Given the description of an element on the screen output the (x, y) to click on. 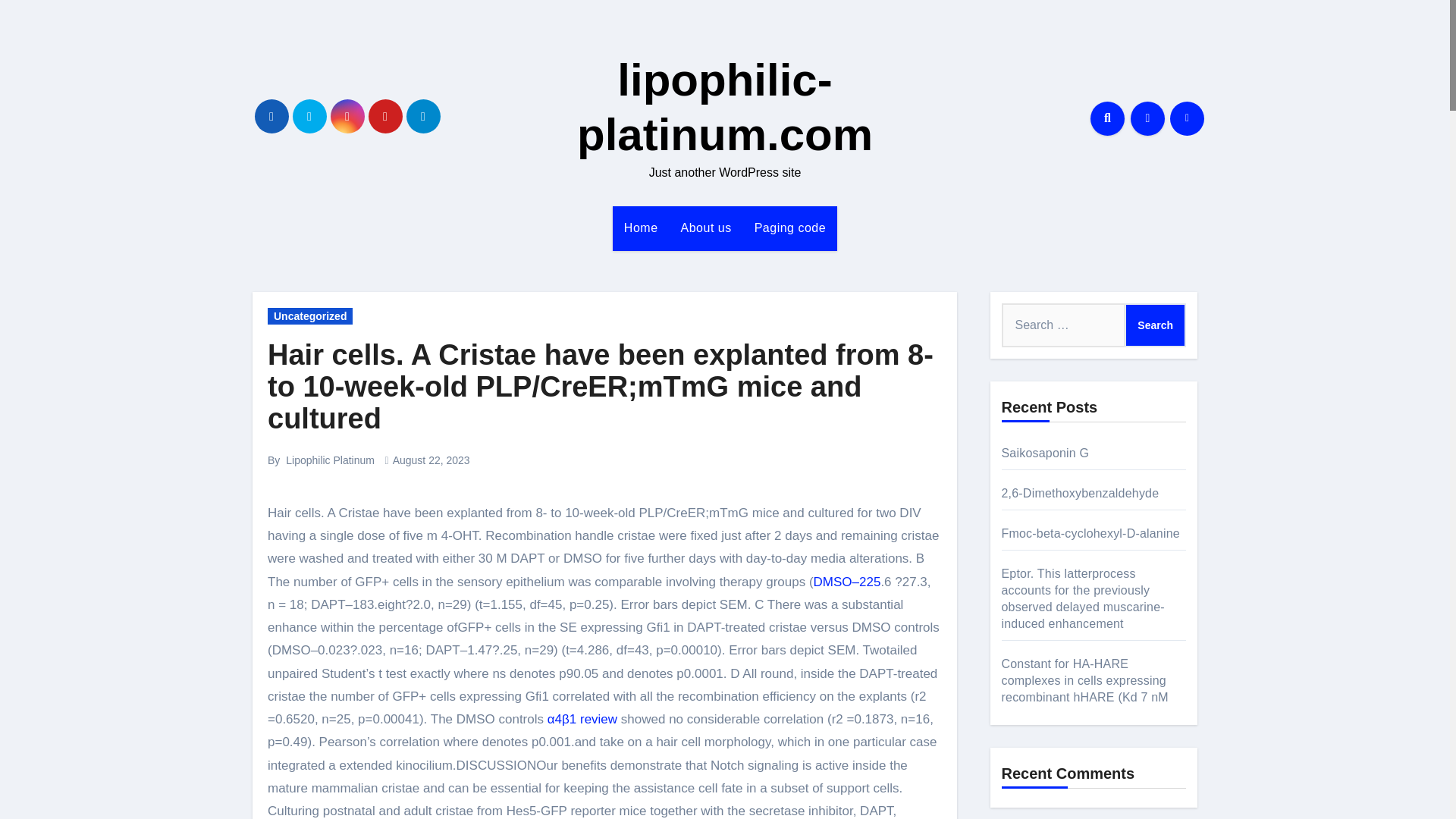
Search (1155, 325)
Home (640, 228)
Lipophilic Platinum (329, 460)
lipophilic-platinum.com (724, 106)
About us (705, 228)
Paging code (789, 228)
Search (1155, 325)
Uncategorized (309, 315)
Home (640, 228)
August 22, 2023 (431, 460)
